Given the description of an element on the screen output the (x, y) to click on. 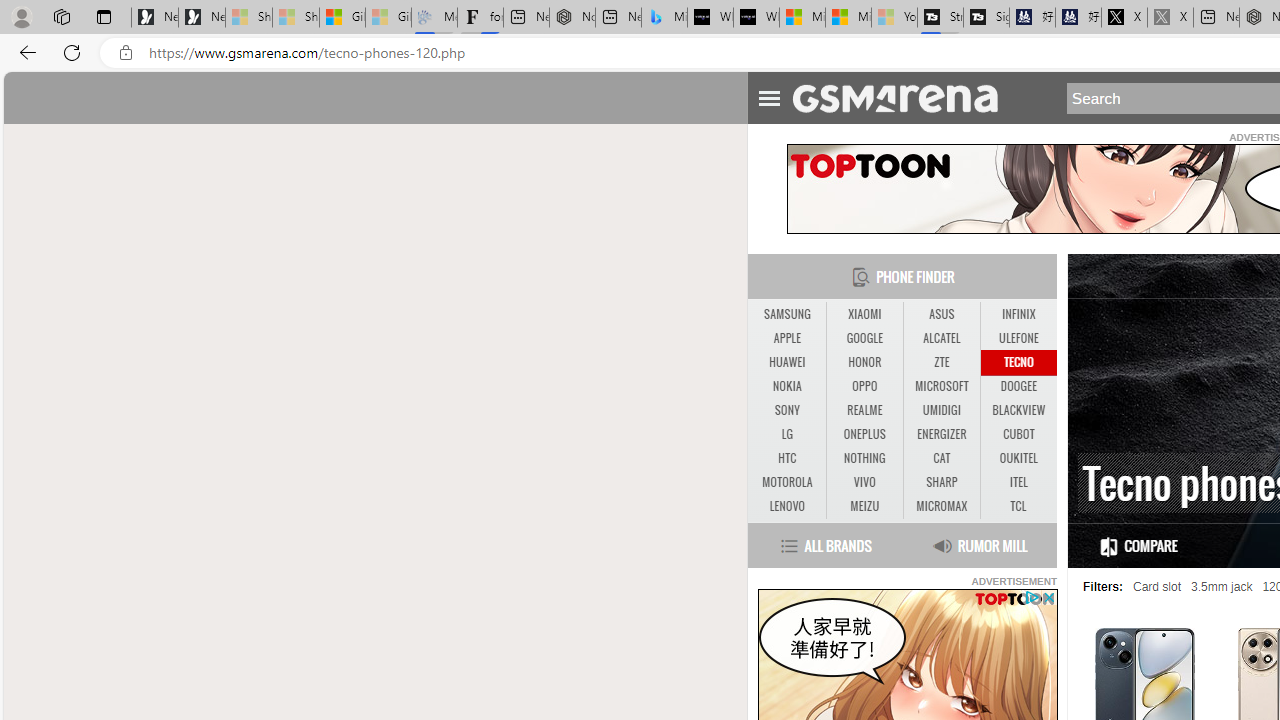
Toggle Navigation (768, 95)
MICROMAX (941, 506)
GOOGLE (863, 338)
ALCATEL (941, 338)
OPPO (864, 386)
NOKIA (786, 386)
HONOR (864, 362)
MOTOROLA (786, 483)
TECNO (1018, 362)
SONY (786, 411)
BLACKVIEW (1018, 410)
View site information (125, 53)
INFINIX (1018, 313)
UMIDIGI (941, 410)
